Given the description of an element on the screen output the (x, y) to click on. 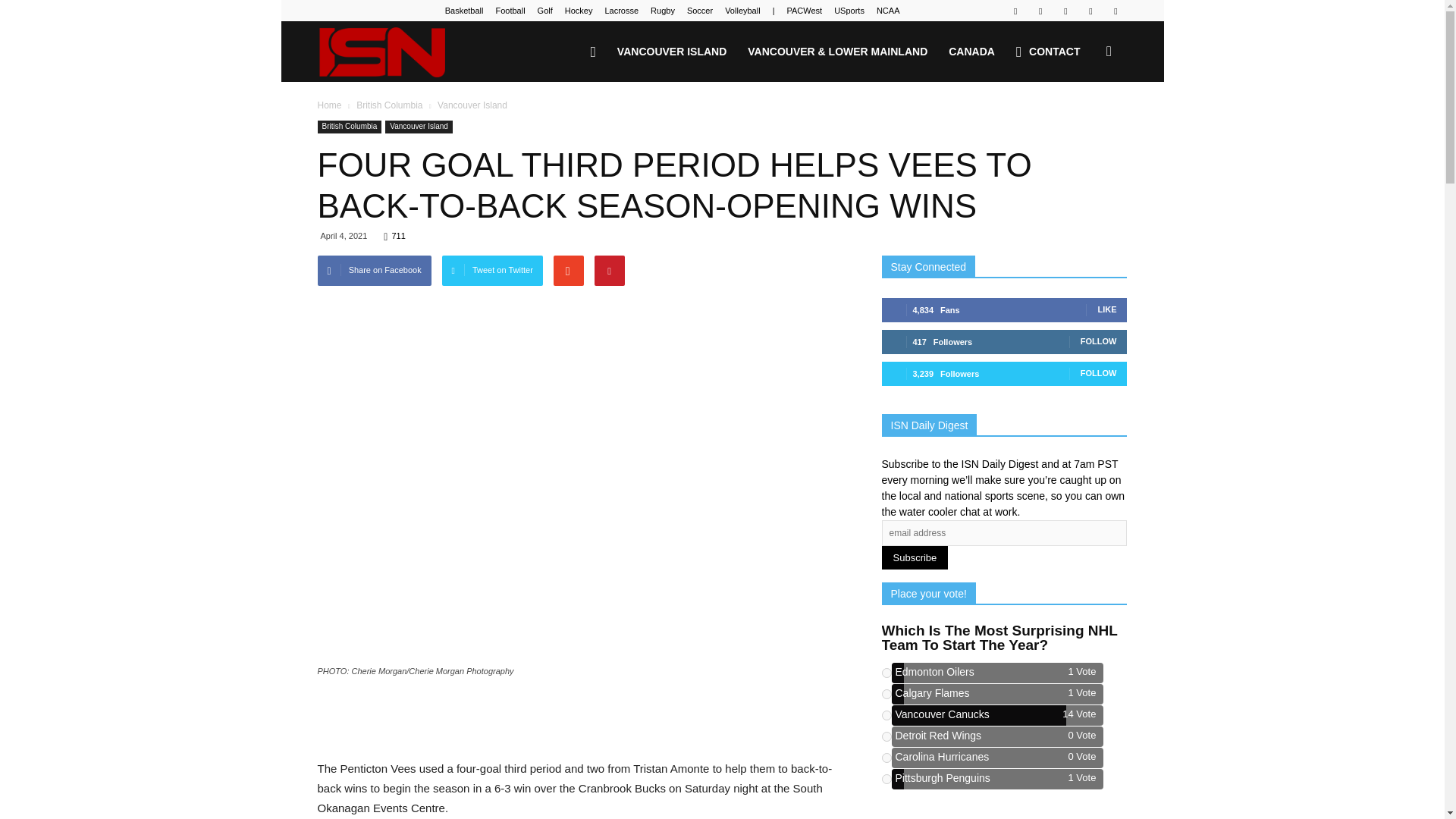
2 (885, 693)
3 (885, 714)
Football (509, 10)
ISN (401, 51)
Lacrosse (621, 10)
View all posts in Vancouver Island (472, 104)
NCAA (887, 10)
5 (885, 757)
Pinterest (1065, 10)
Volleyball (742, 10)
